Given the description of an element on the screen output the (x, y) to click on. 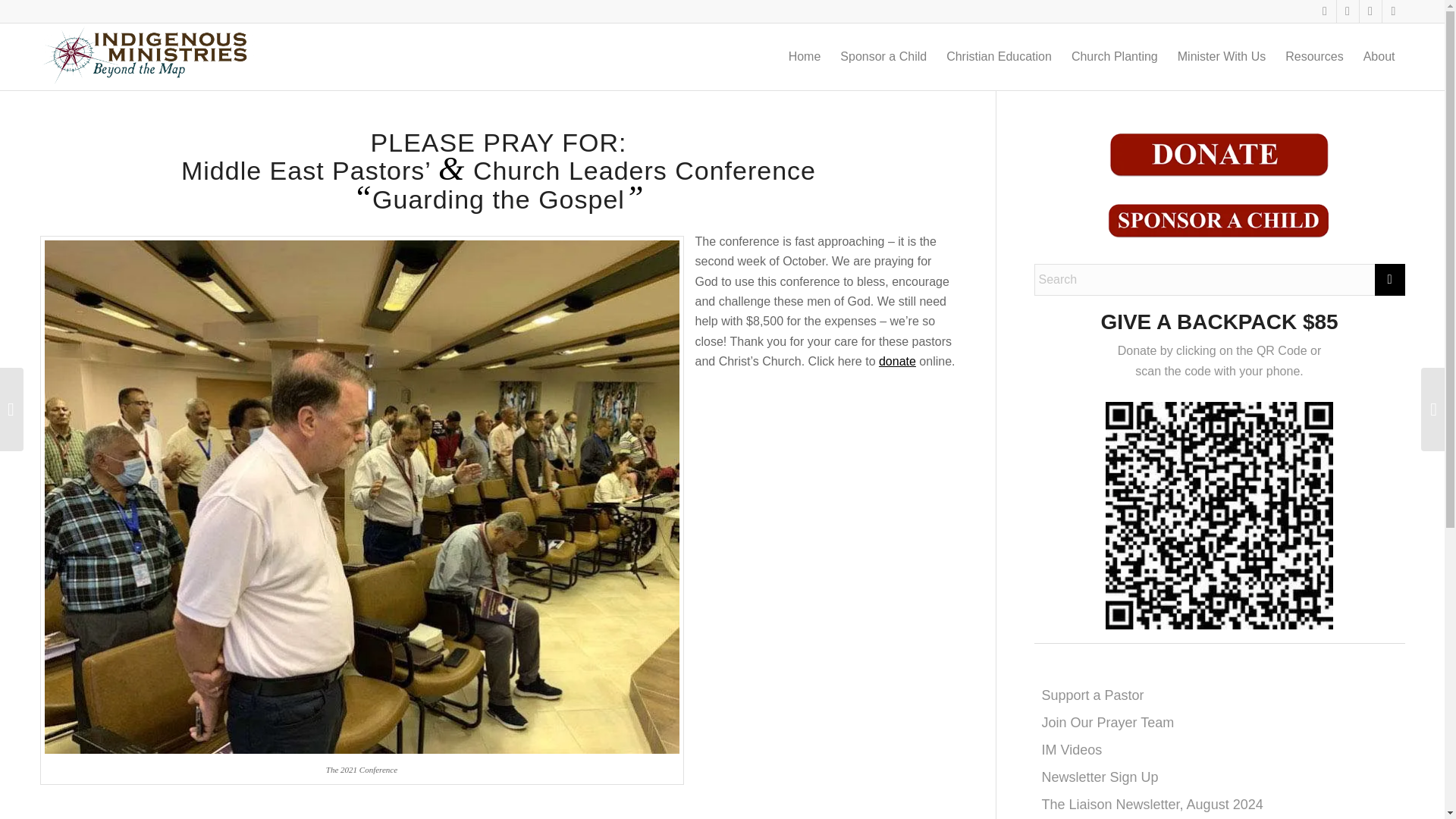
The Liaison Newsletter, August 2024 (1152, 804)
Join Our Prayer Team (1108, 722)
Christian Education (998, 56)
donate (897, 360)
Instagram (1393, 11)
IM Videos (1072, 749)
Resources (1313, 56)
Newsletter Sign Up (1100, 776)
Church Planting (1114, 56)
Indigenous-Ministries-Logo-short (147, 56)
